Given the description of an element on the screen output the (x, y) to click on. 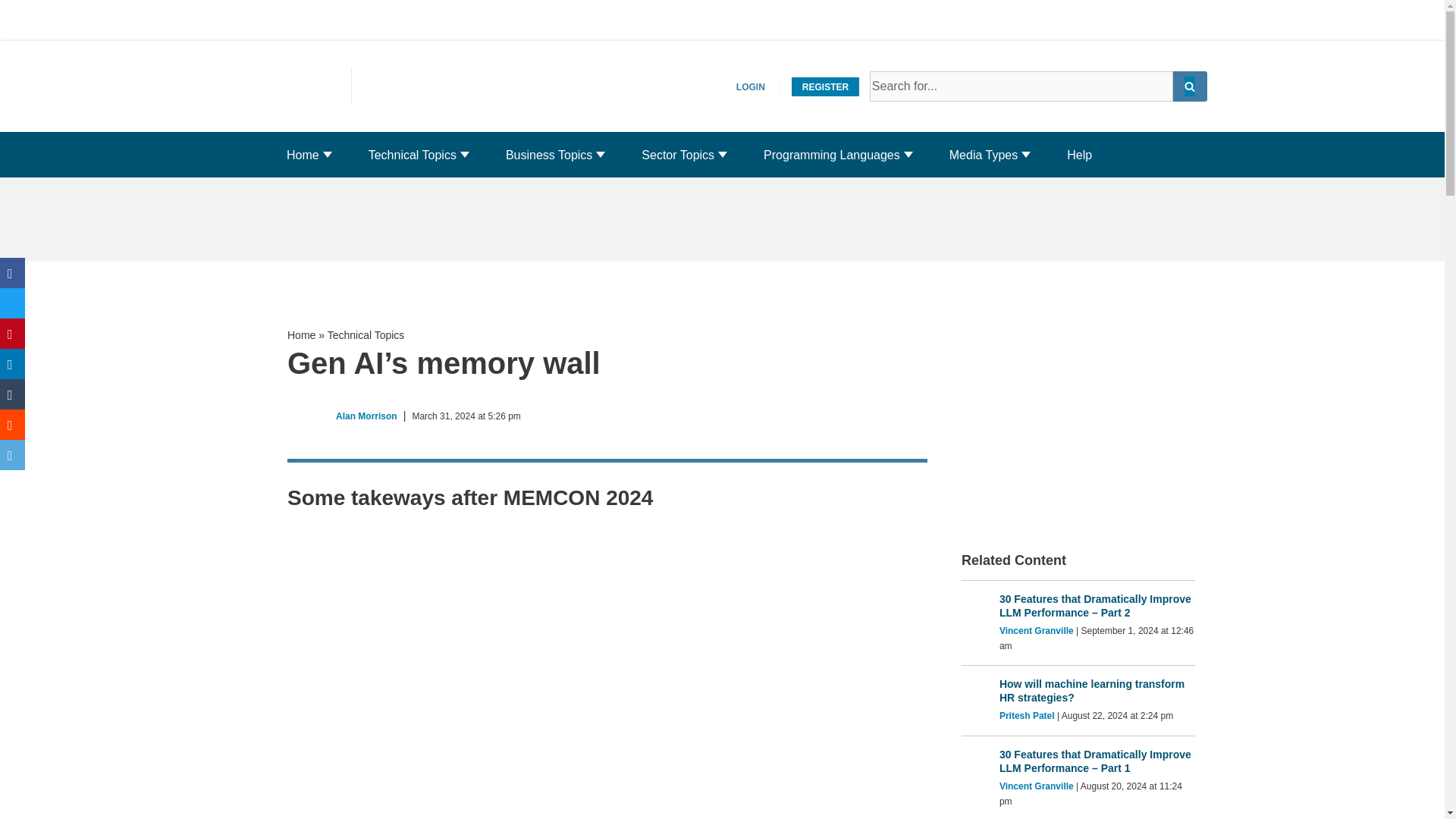
REGISTER (825, 86)
Posts by Alan Morrison (366, 416)
Technical Topics (412, 154)
Skip to content (11, 31)
Home (302, 154)
LOGIN (750, 86)
Business Topics (548, 154)
How will machine learning transform HR strategies? (1096, 690)
